Given the description of an element on the screen output the (x, y) to click on. 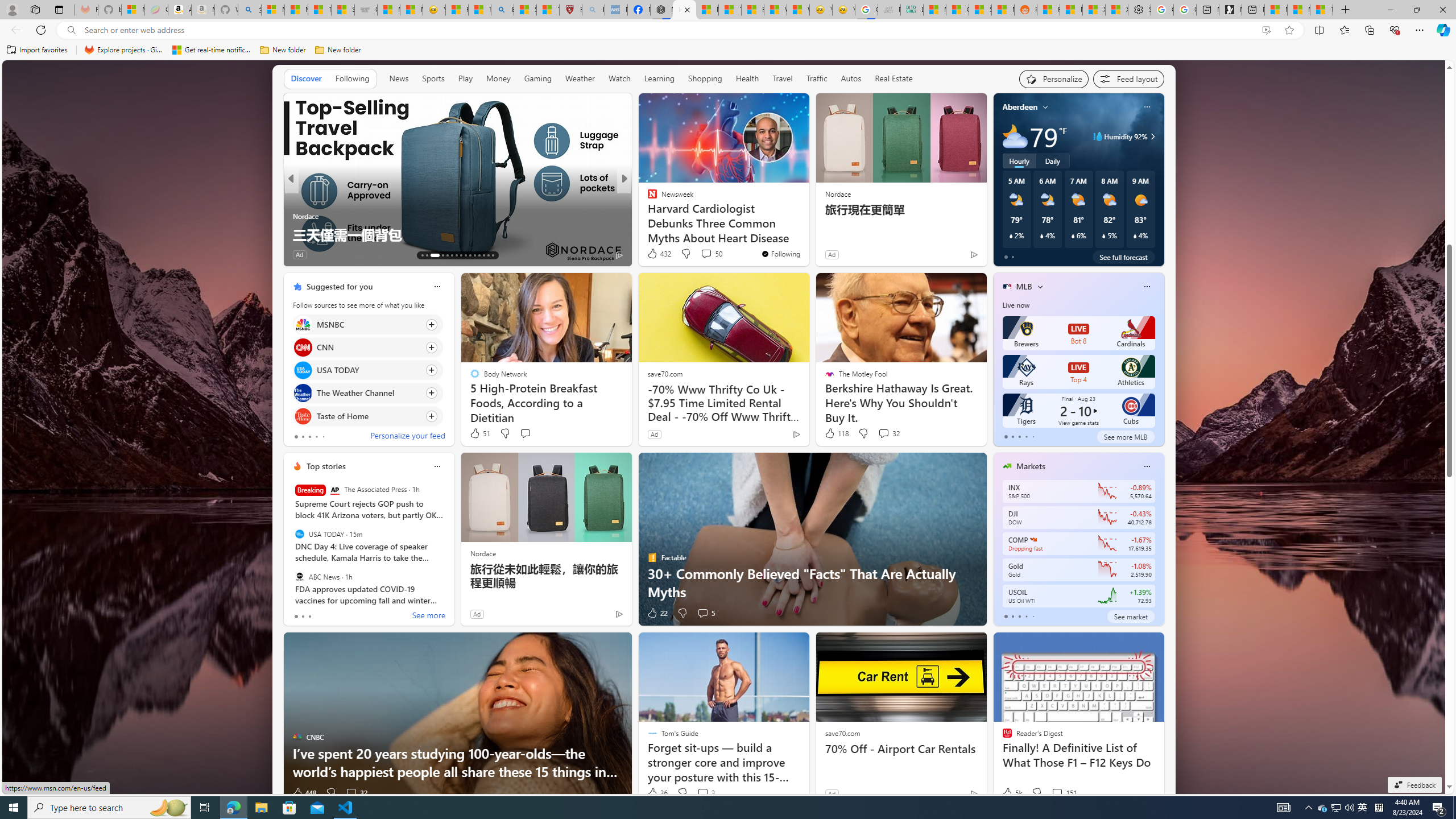
AutomationID: tab-71 (451, 255)
Weather (580, 79)
View comments 12 Comment (352, 254)
Mostly cloudy (1014, 136)
118 Like (835, 433)
View comments 6 Comment (703, 254)
AutomationID: tab-78 (483, 255)
AutomationID: tab-73 (460, 255)
View comments 64 Comment (6, 254)
Play (465, 78)
